Given the description of an element on the screen output the (x, y) to click on. 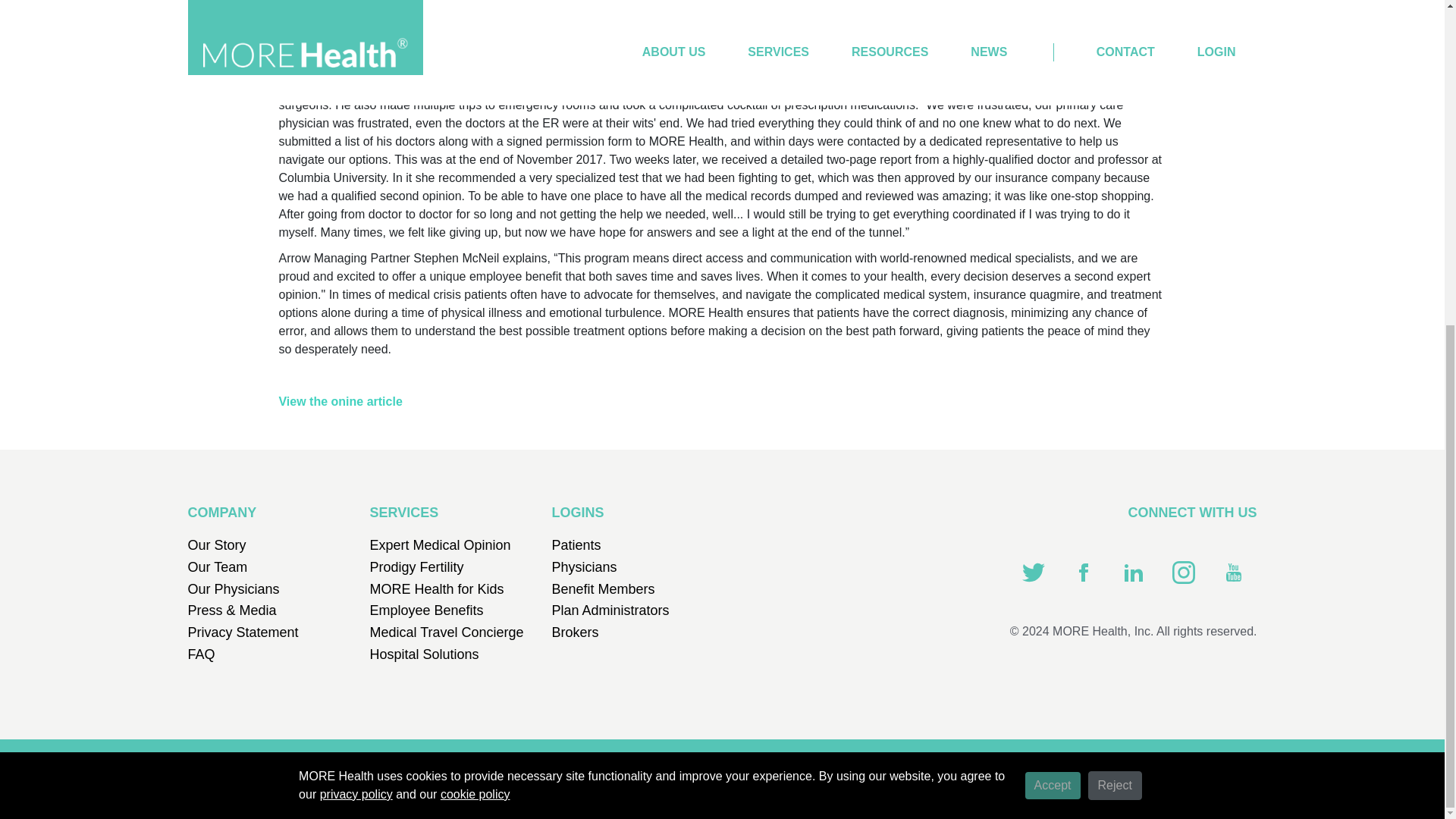
Our Team (217, 566)
Employee Benefits (426, 610)
Our Physicians (233, 589)
Hospital Solutions (424, 654)
Patients (576, 544)
View the onine article (339, 400)
Privacy Statement (242, 631)
MORE Health for Kids (436, 589)
Expert Medical Opinion (440, 544)
Benefit Members (603, 589)
Our Story (216, 544)
Physicians (584, 566)
Medical Travel Concierge (446, 631)
Prodigy Fertility (416, 566)
FAQ (201, 654)
